Given the description of an element on the screen output the (x, y) to click on. 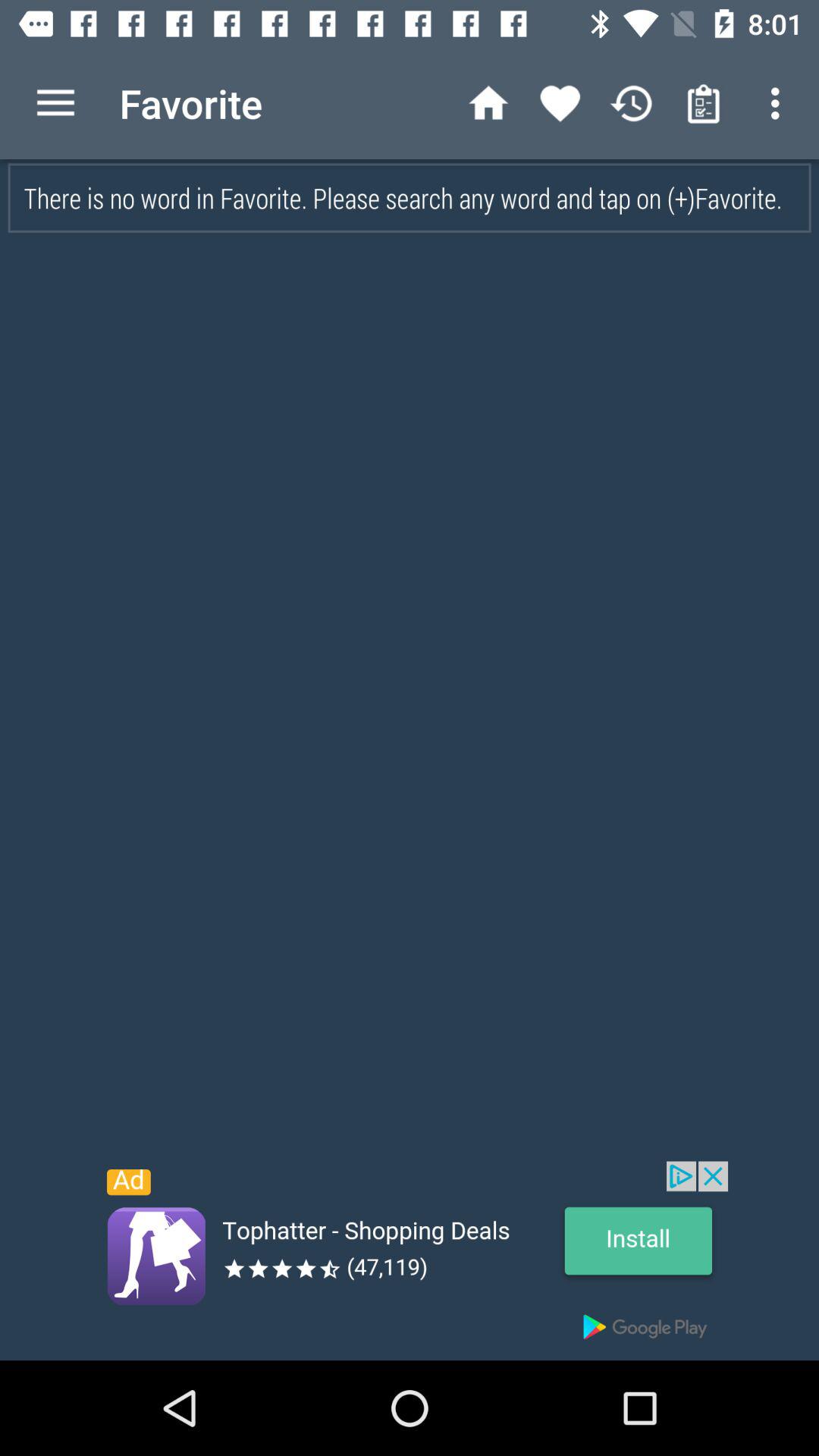
go to link in advertisement (409, 1260)
